Given the description of an element on the screen output the (x, y) to click on. 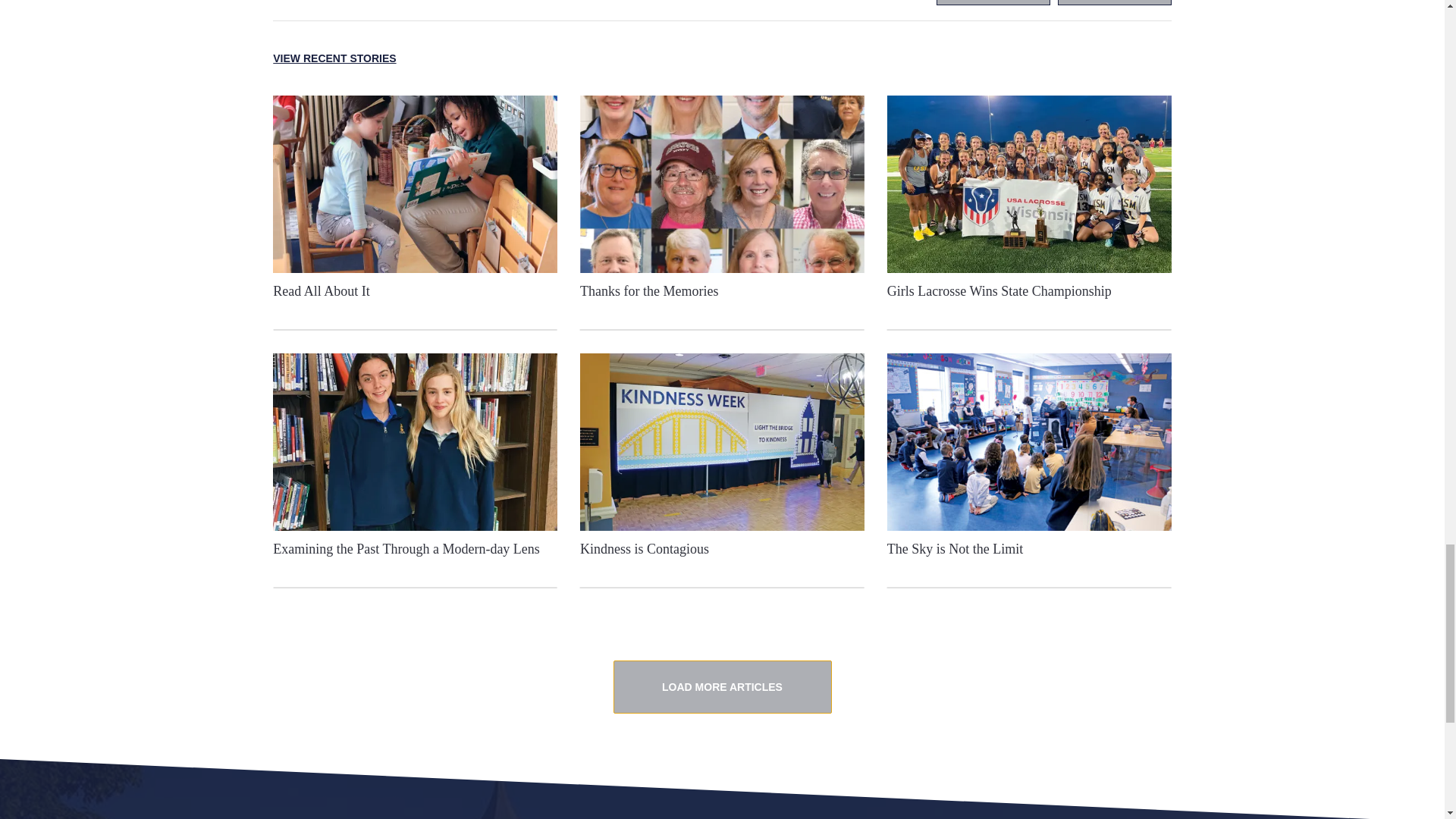
A Lower School student reads to her Preschool buddy. (415, 183)
A collage of retiring faculty and staff members. (721, 183)
